Given the description of an element on the screen output the (x, y) to click on. 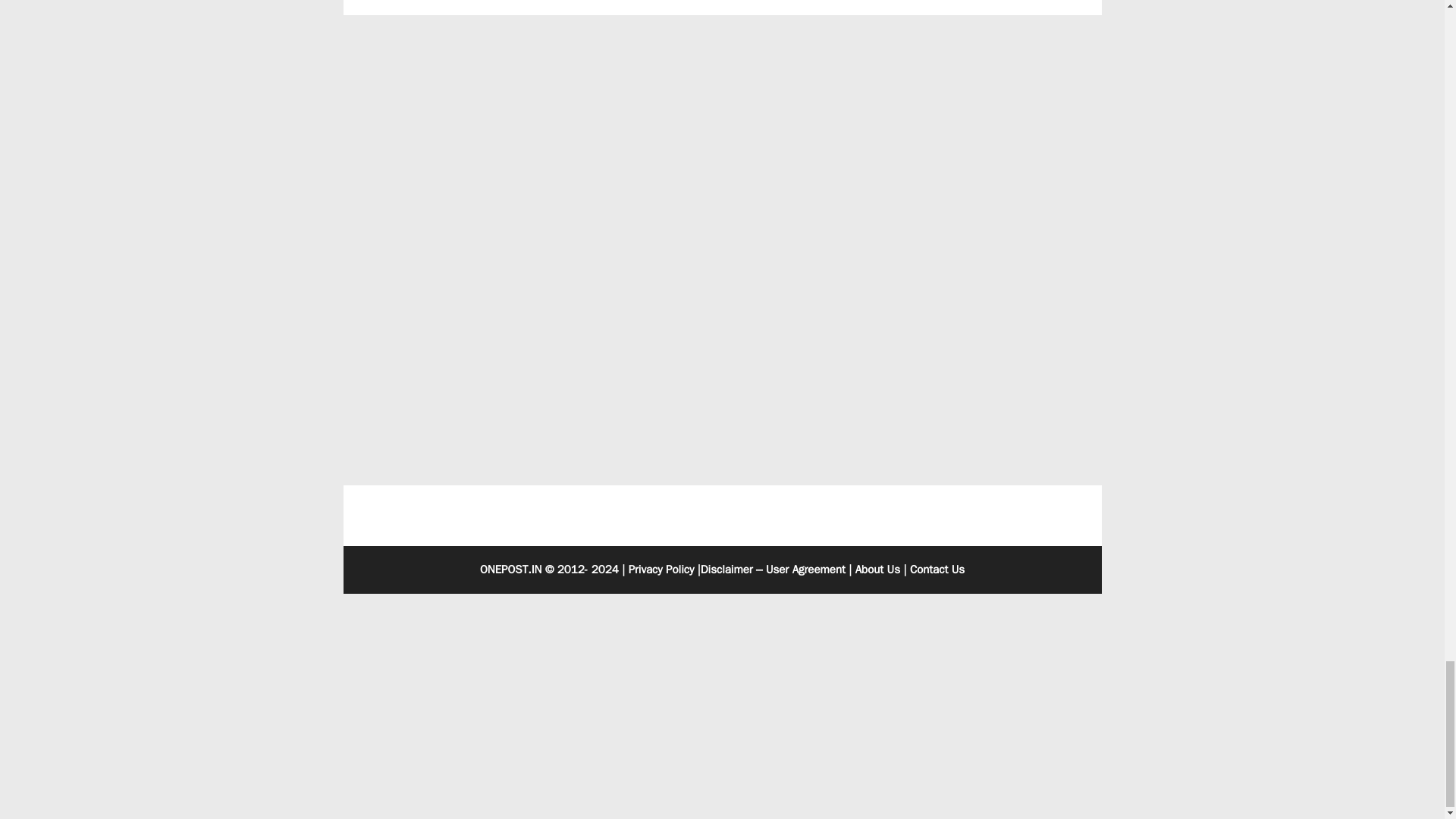
Privacy Policy (661, 569)
Contact Us (936, 569)
About Us (877, 569)
